Given the description of an element on the screen output the (x, y) to click on. 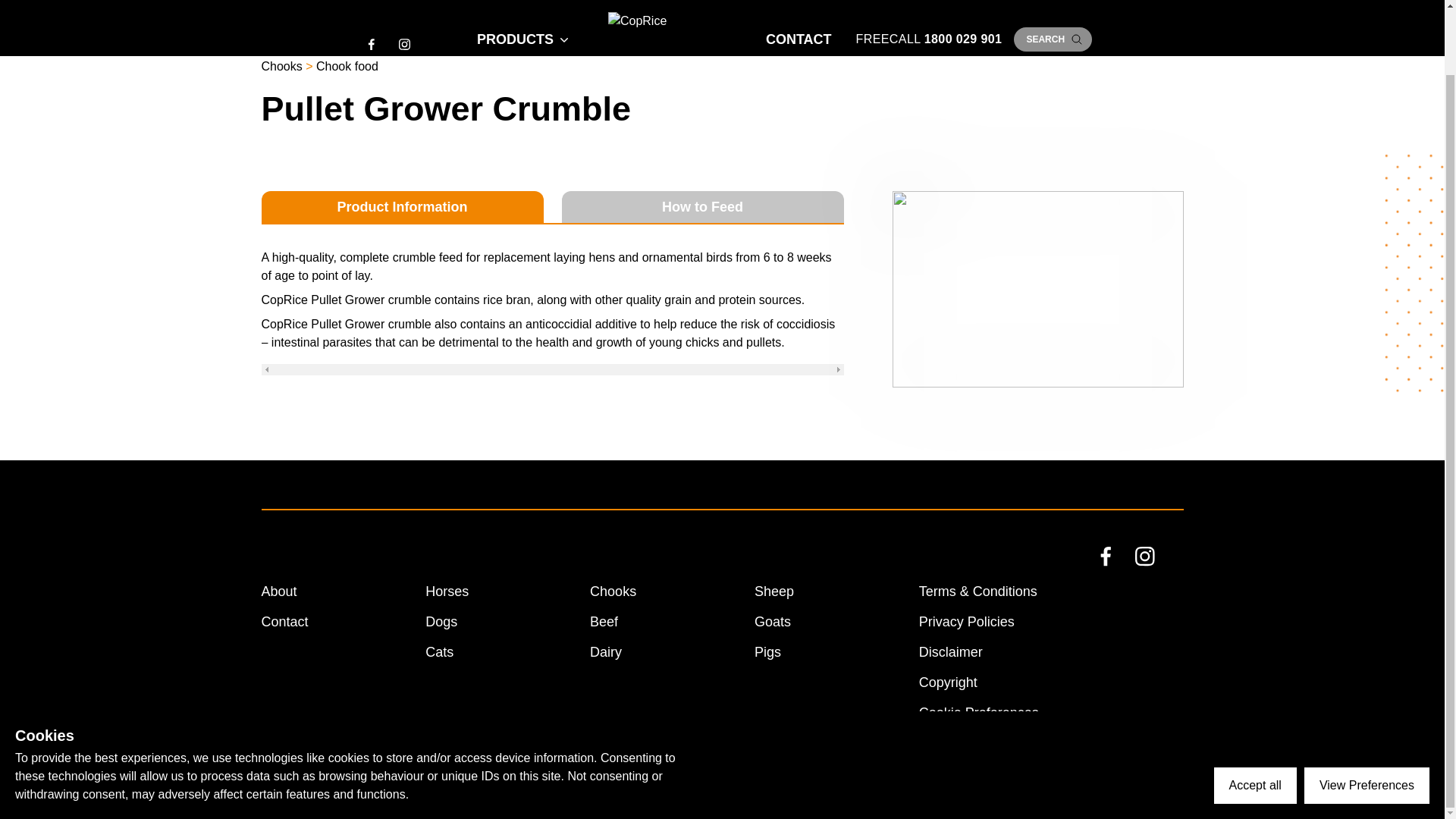
Horses (446, 590)
Contact (283, 621)
Dogs (441, 621)
Product Information (401, 206)
Facebook (1118, 571)
Disclaimer (950, 652)
Cats (438, 652)
Dairy (605, 652)
Cookie Preferences (978, 712)
Chooks (612, 590)
